Given the description of an element on the screen output the (x, y) to click on. 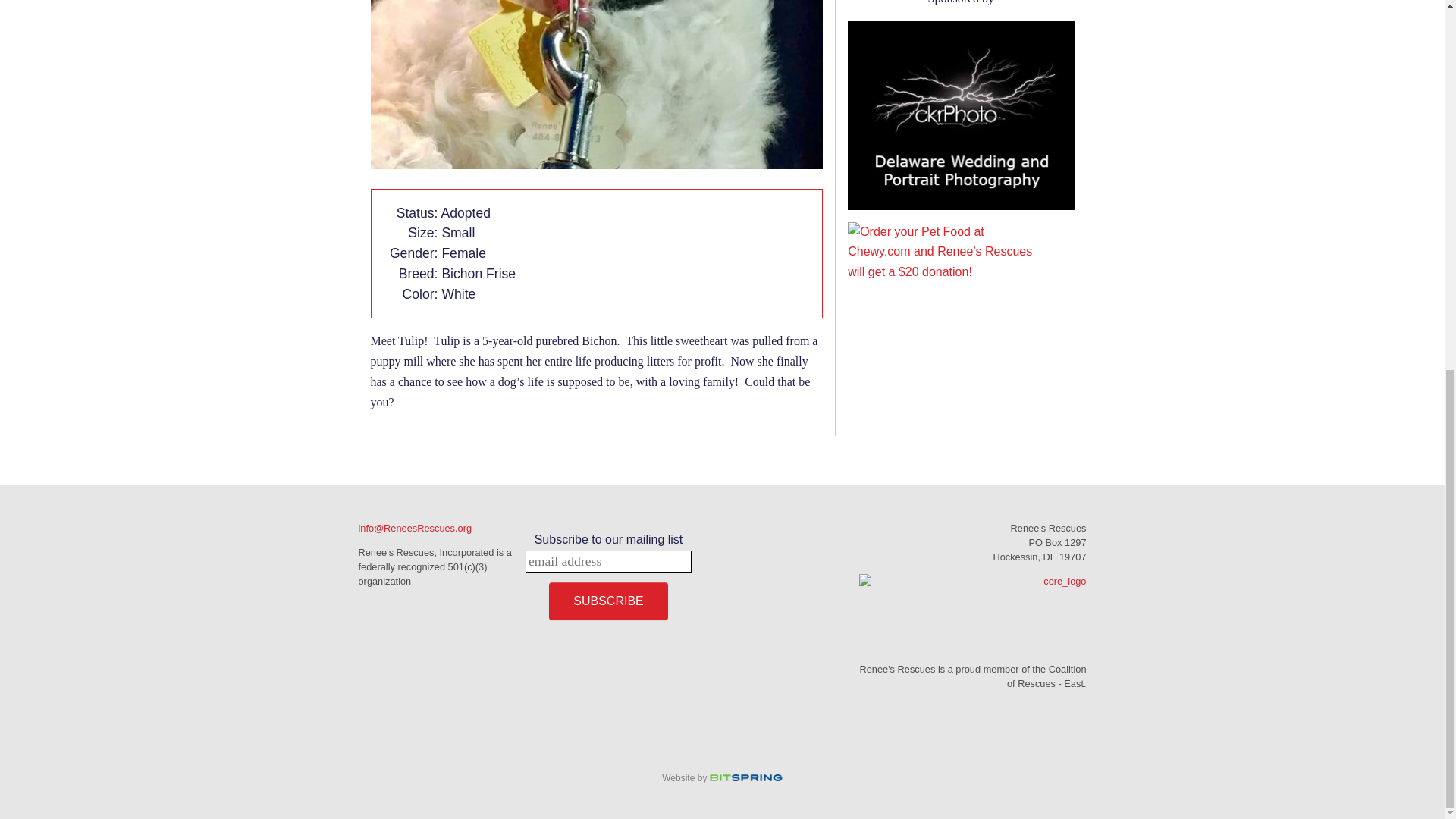
Subscribe (607, 600)
Best web design in Maryland (721, 777)
Subscribe (607, 600)
ckr-photo (960, 115)
Tulip (595, 84)
Website by Bit Spring (721, 777)
